Given the description of an element on the screen output the (x, y) to click on. 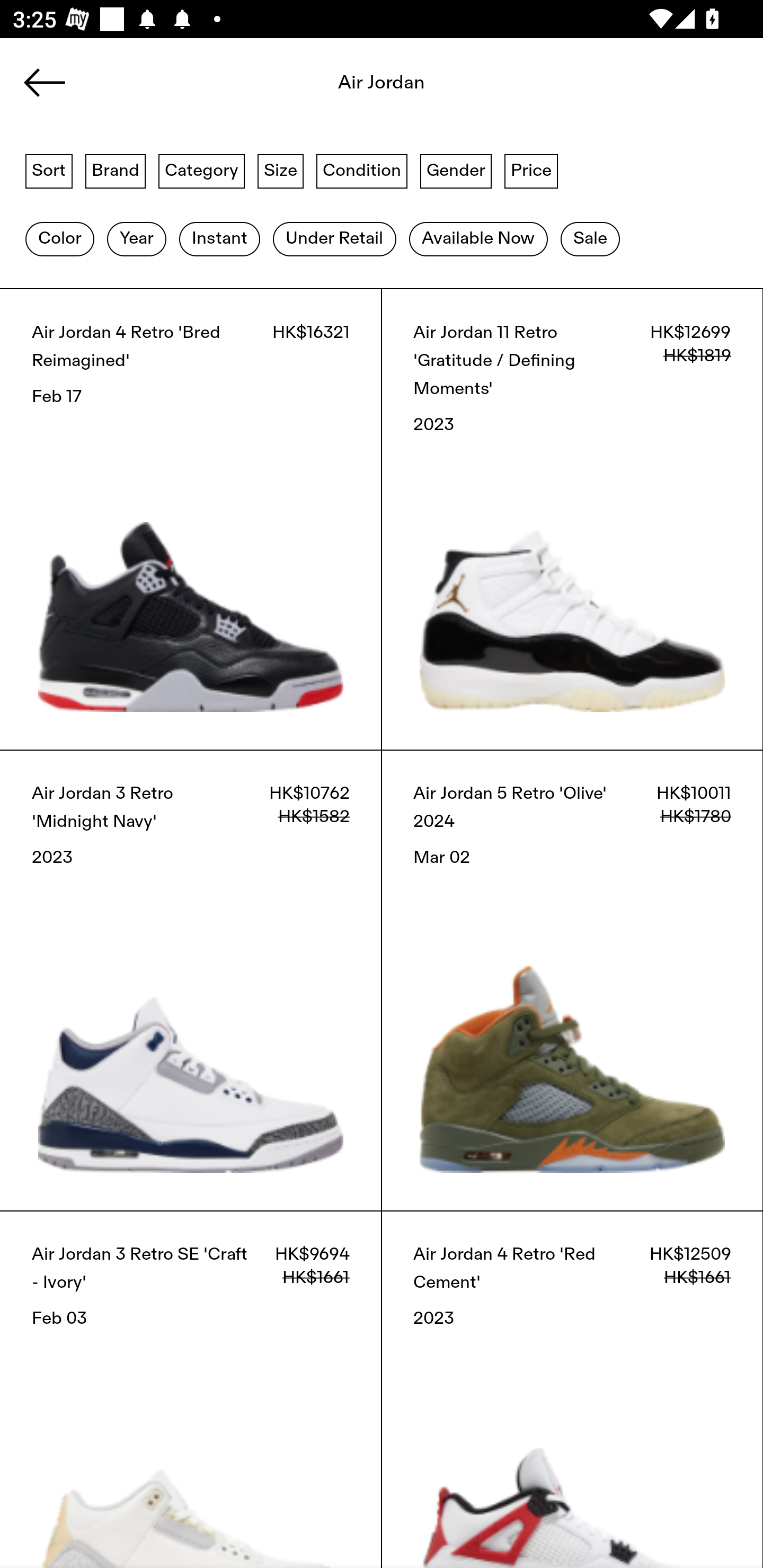
hat (381, 88)
Sort (48, 170)
Brand (115, 170)
Category (201, 170)
Size (280, 170)
Condition (361, 170)
Gender (455, 170)
Price (530, 170)
Color (59, 239)
Year (136, 239)
Instant (219, 239)
Under Retail (334, 239)
Available Now (477, 239)
Sale (589, 239)
